Given the description of an element on the screen output the (x, y) to click on. 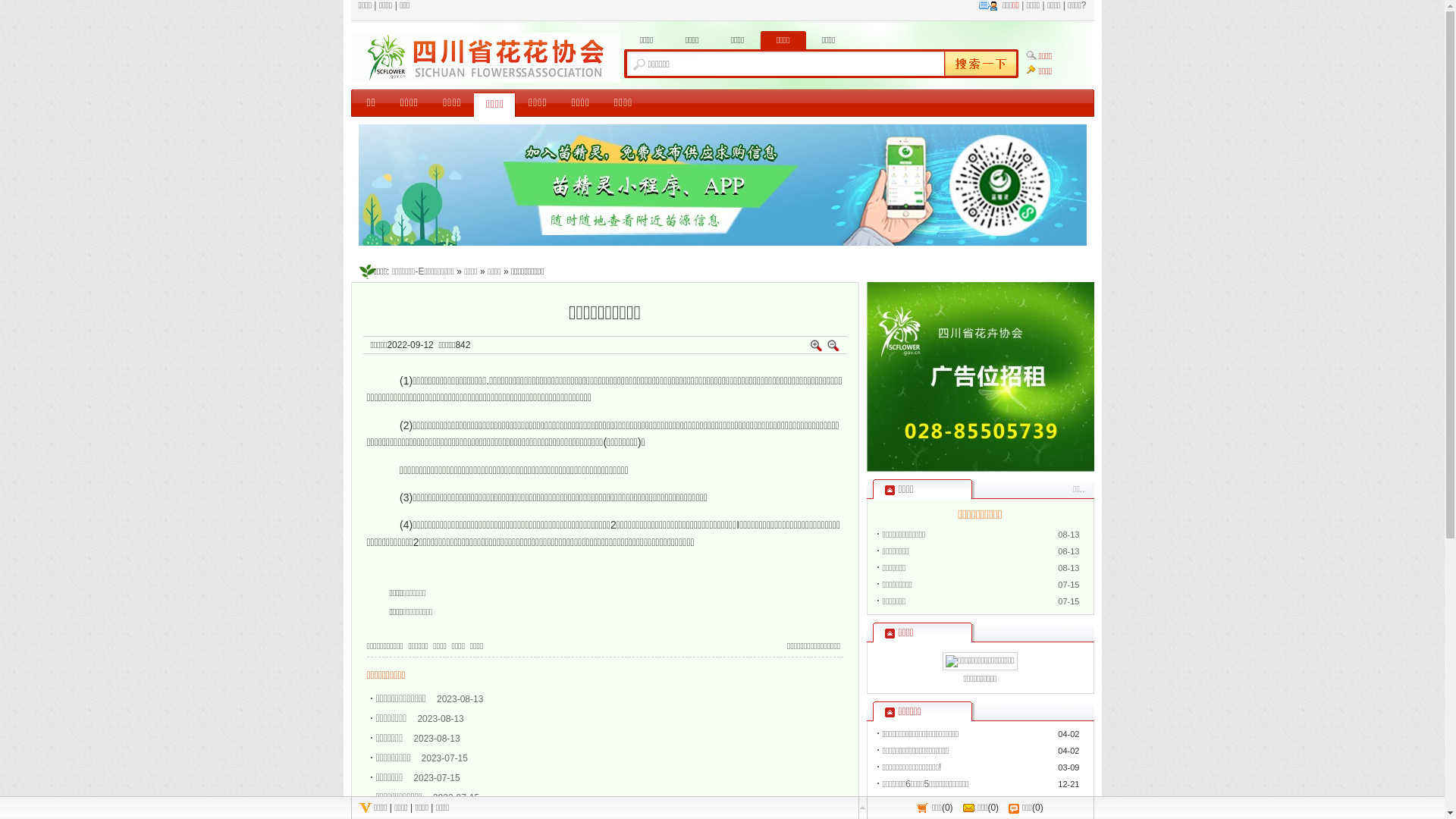
  Element type: text (978, 63)
